Given the description of an element on the screen output the (x, y) to click on. 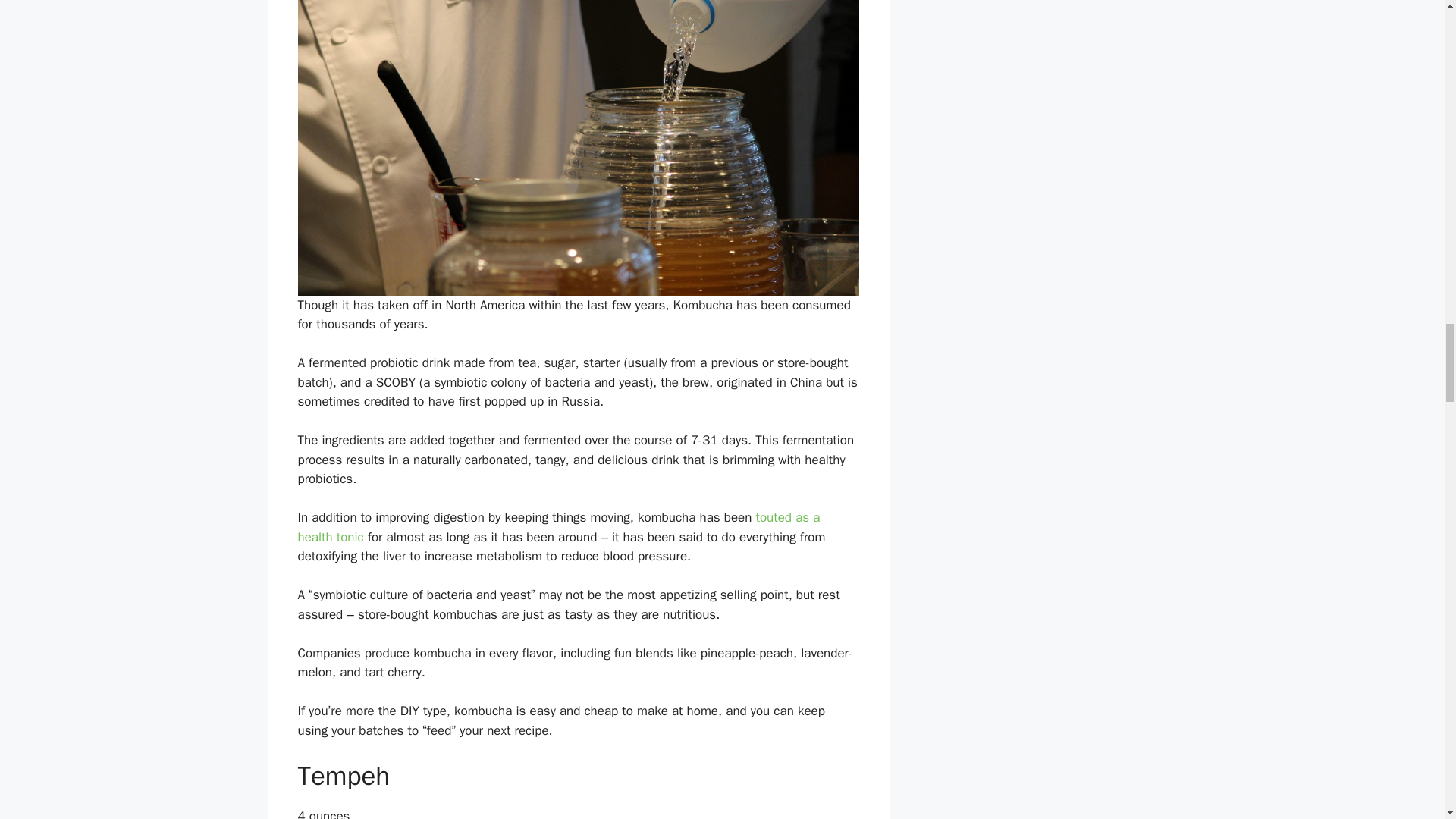
touted as a health tonic (558, 527)
